Given the description of an element on the screen output the (x, y) to click on. 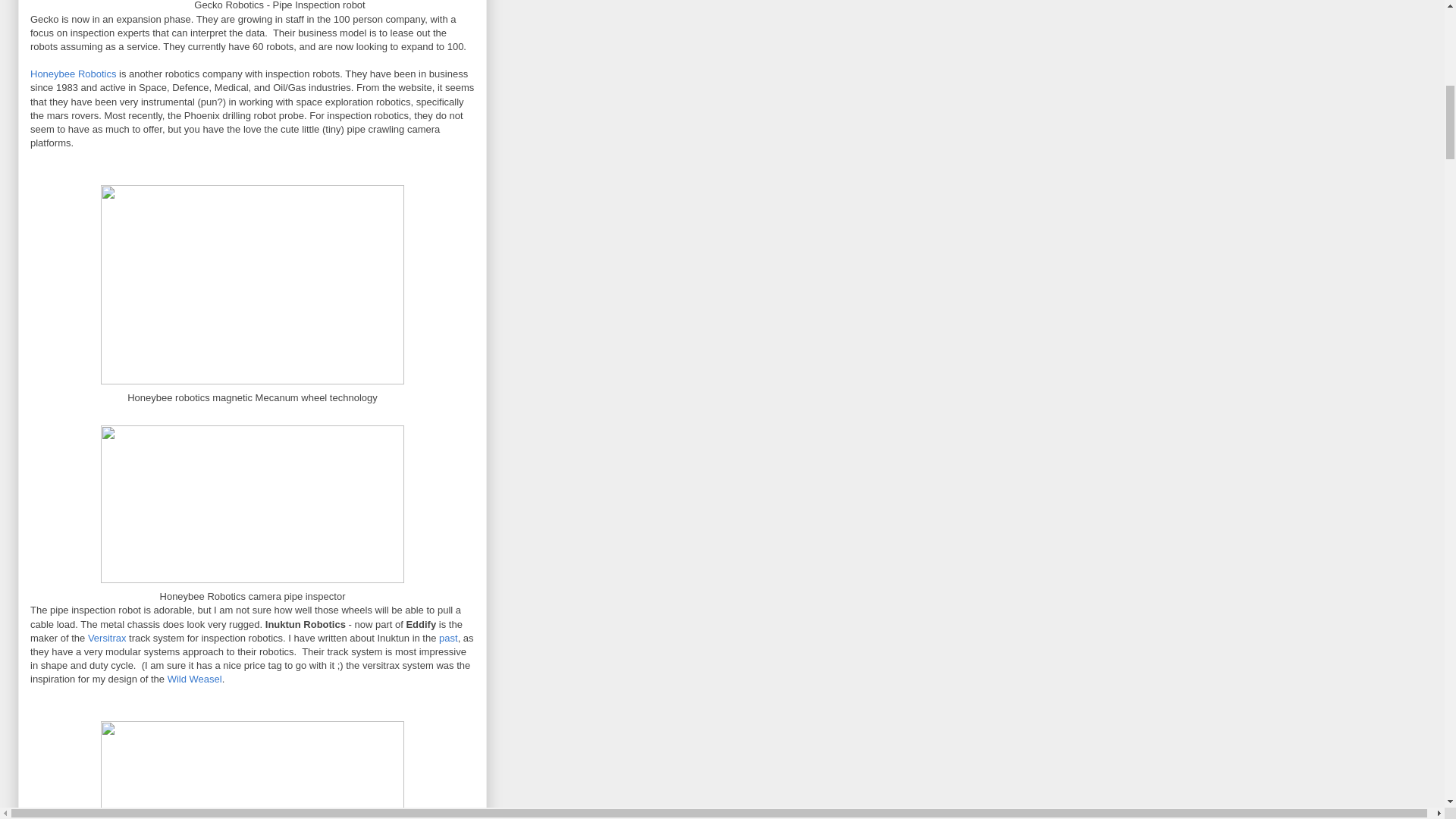
Wild Weasel (194, 678)
Honeybee Robotics (73, 73)
Versitrax (106, 637)
past (448, 637)
